Given the description of an element on the screen output the (x, y) to click on. 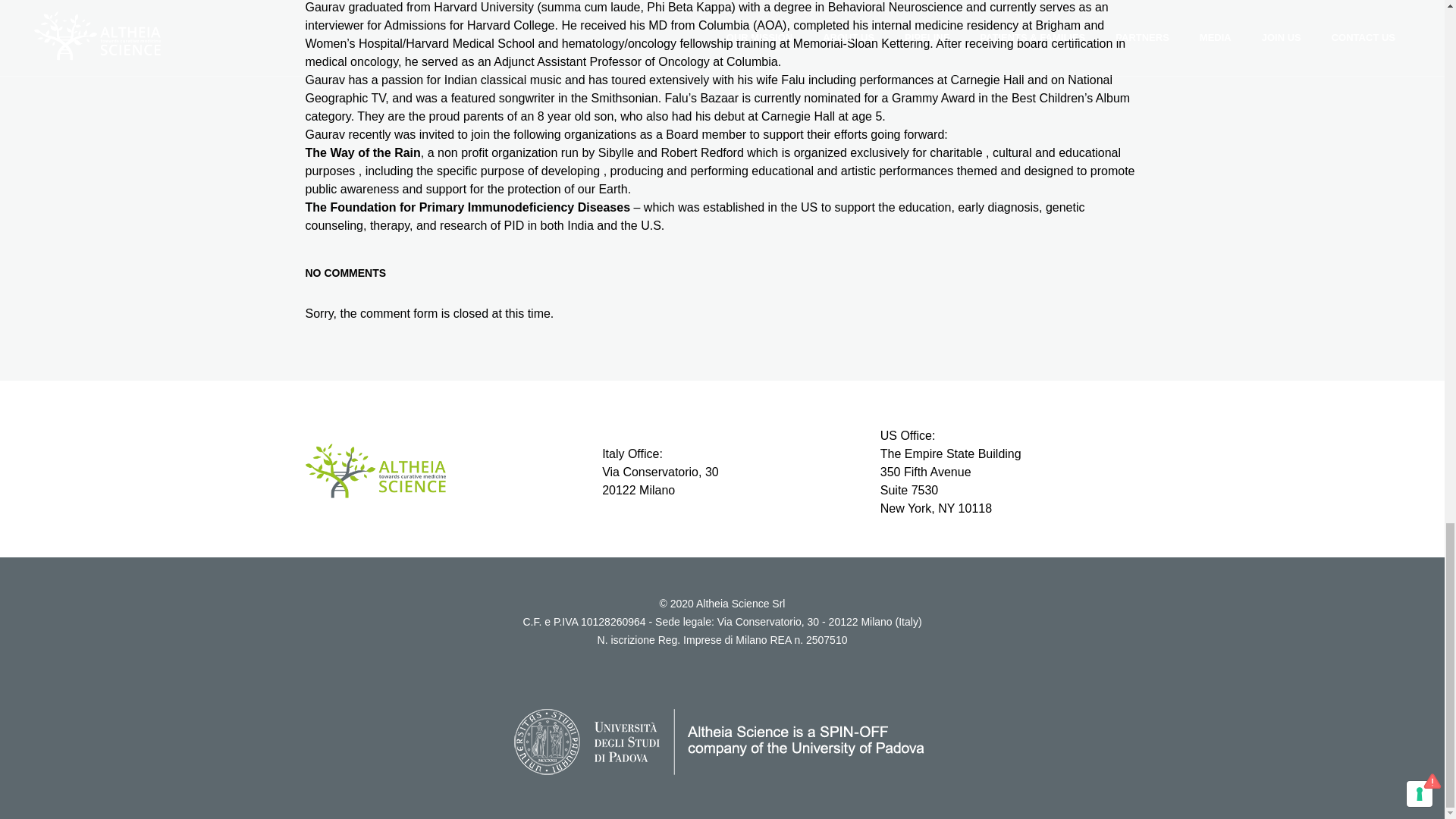
Cookie Policy  (760, 675)
Privacy Policy  (684, 675)
